Given the description of an element on the screen output the (x, y) to click on. 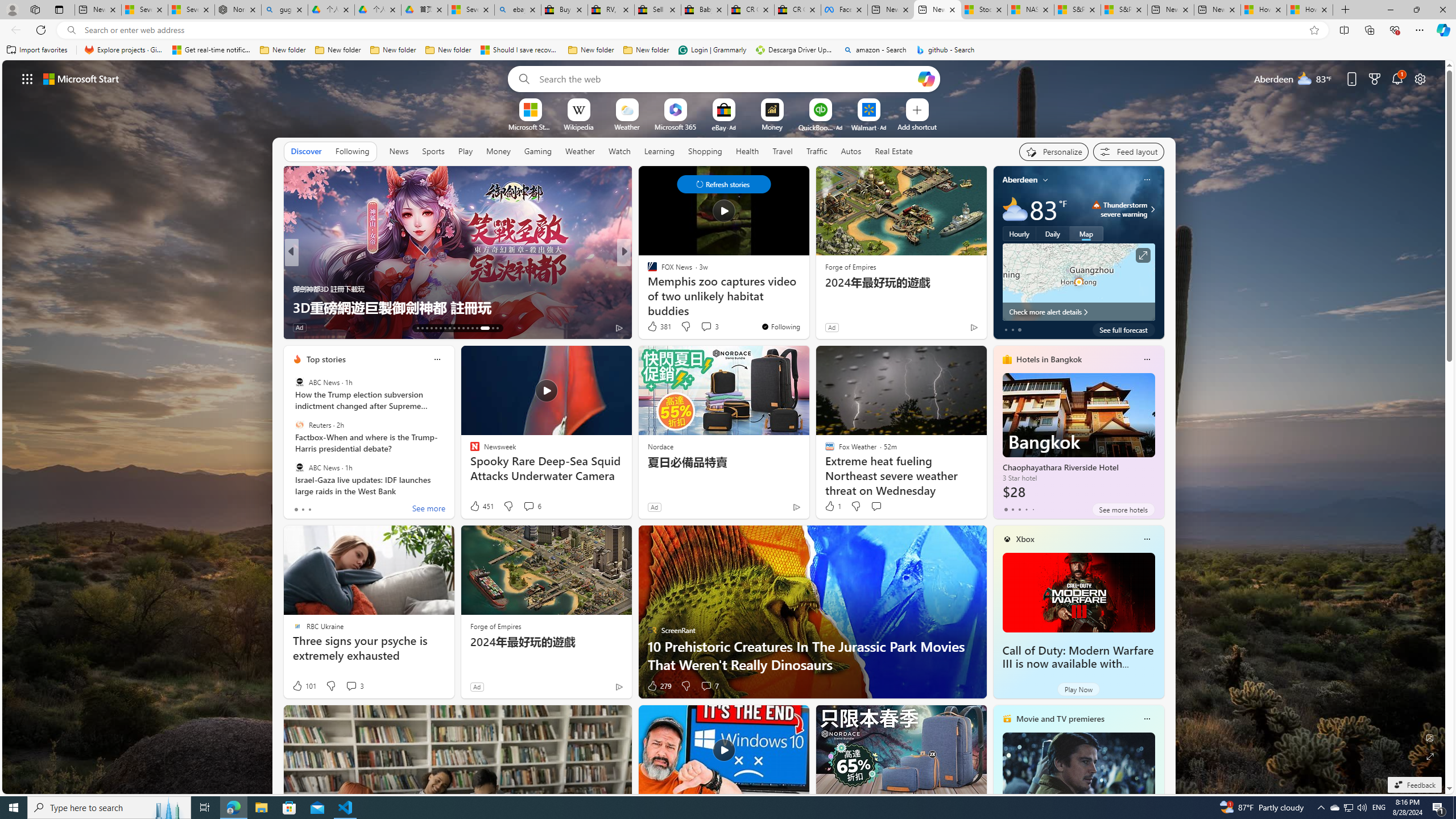
Movie and TV premieres (1060, 718)
Learning (659, 151)
Traffic (816, 151)
hotels-header-icon (1006, 358)
amazon - Search (875, 49)
